Given the description of an element on the screen output the (x, y) to click on. 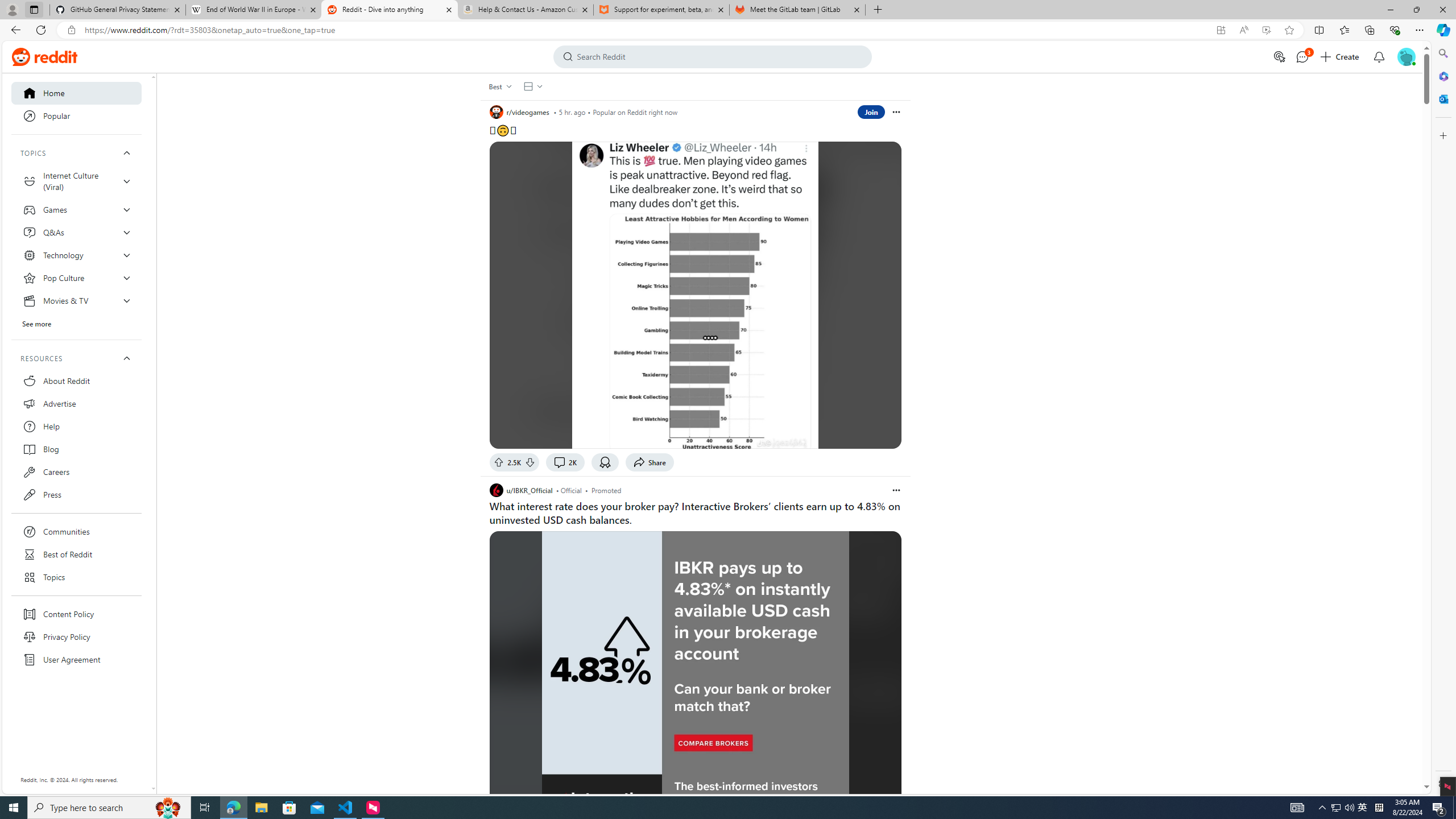
Open user actions (895, 490)
r/videogames icon (496, 111)
Share Share (650, 461)
GitHub General Privacy Statement - GitHub Docs (117, 9)
Upvote (498, 461)
User Avatar Expand user menu (1406, 56)
View:  (532, 85)
TOPICS (76, 152)
Press (76, 494)
Communities (76, 531)
u/IBKR_Official avatar (496, 490)
